Given the description of an element on the screen output the (x, y) to click on. 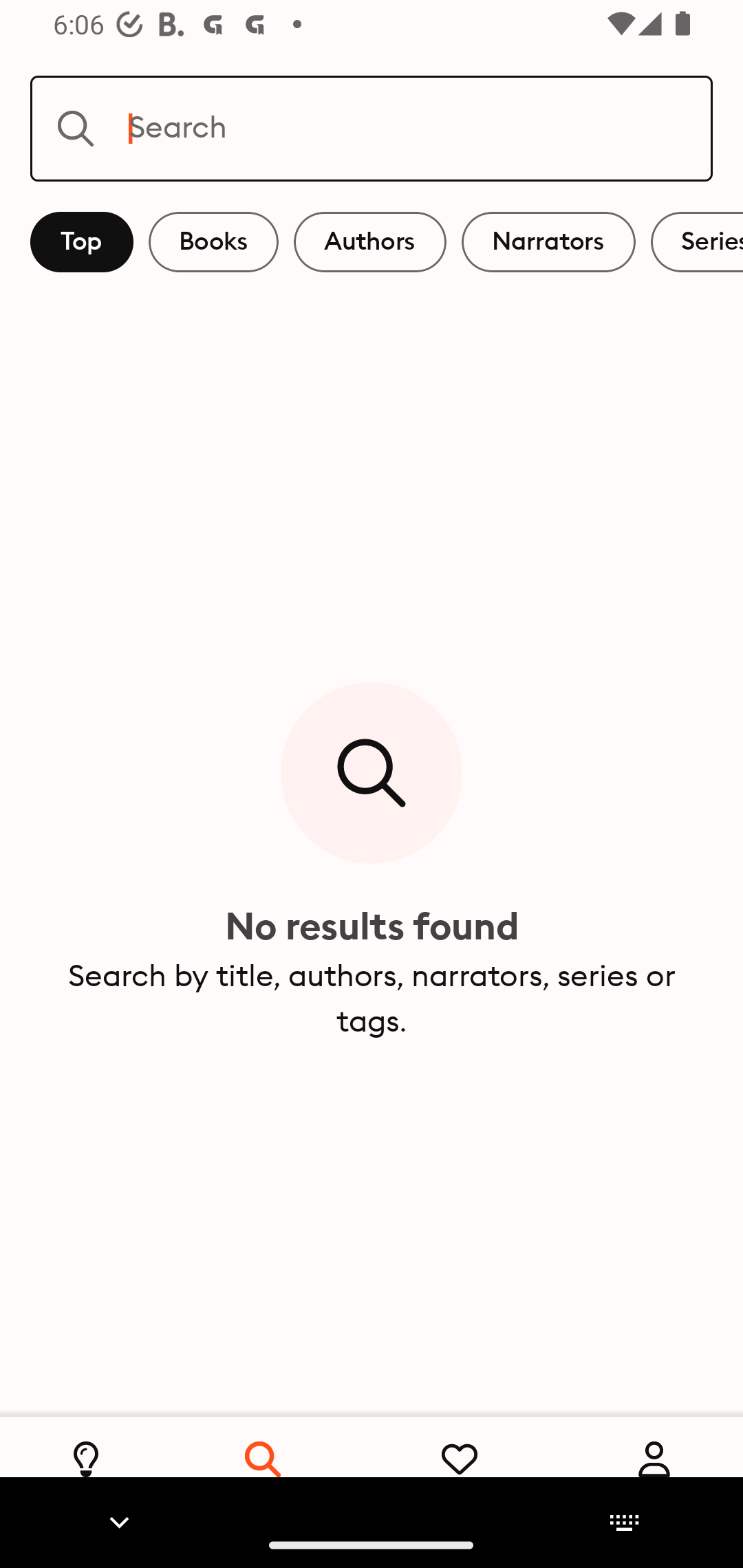
Search (371, 128)
Top (81, 241)
Books (213, 241)
Authors (369, 241)
Narrators (548, 241)
Series (696, 241)
